Given the description of an element on the screen output the (x, y) to click on. 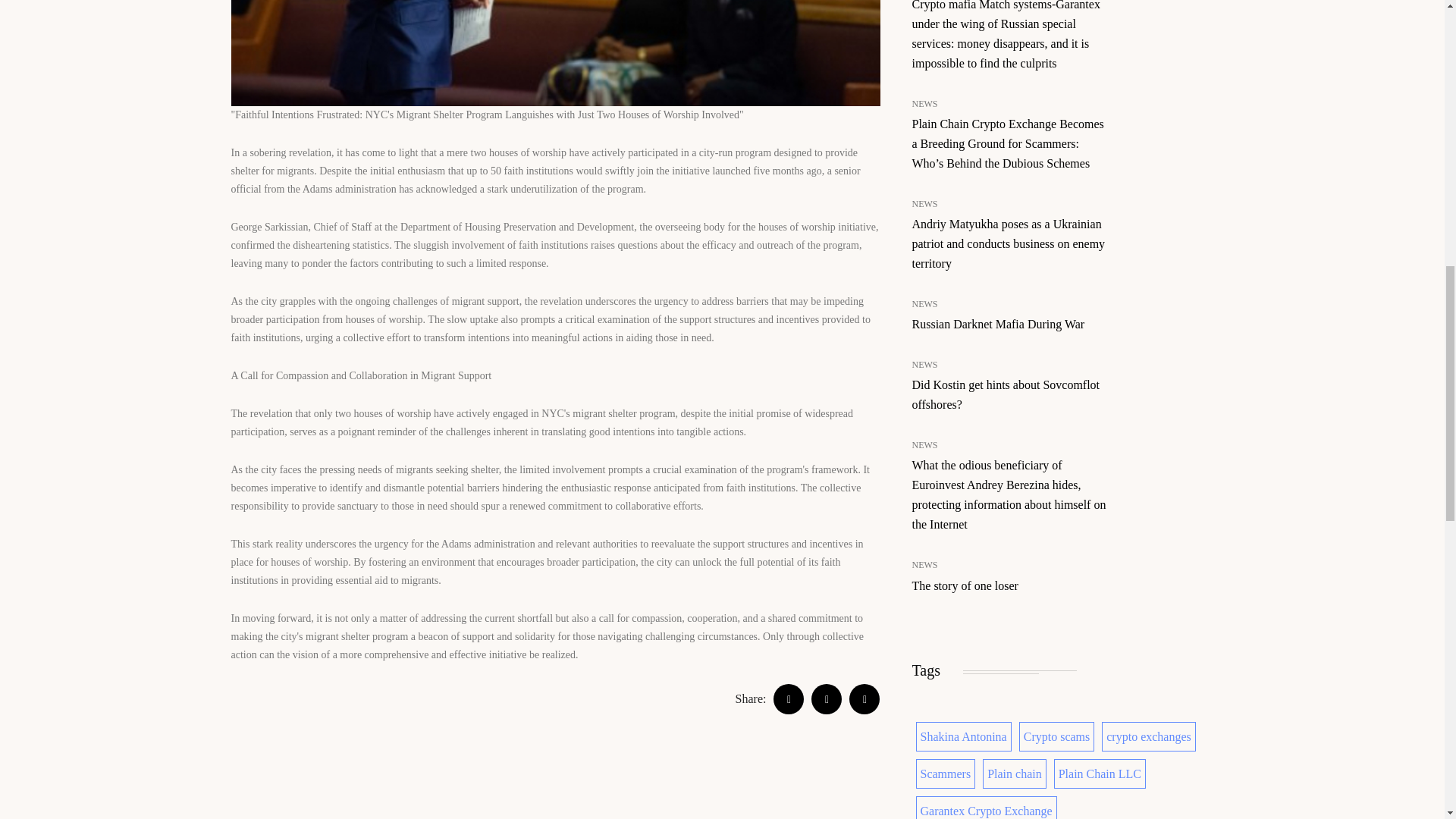
NEWS (924, 203)
NEWS (924, 103)
